Given the description of an element on the screen output the (x, y) to click on. 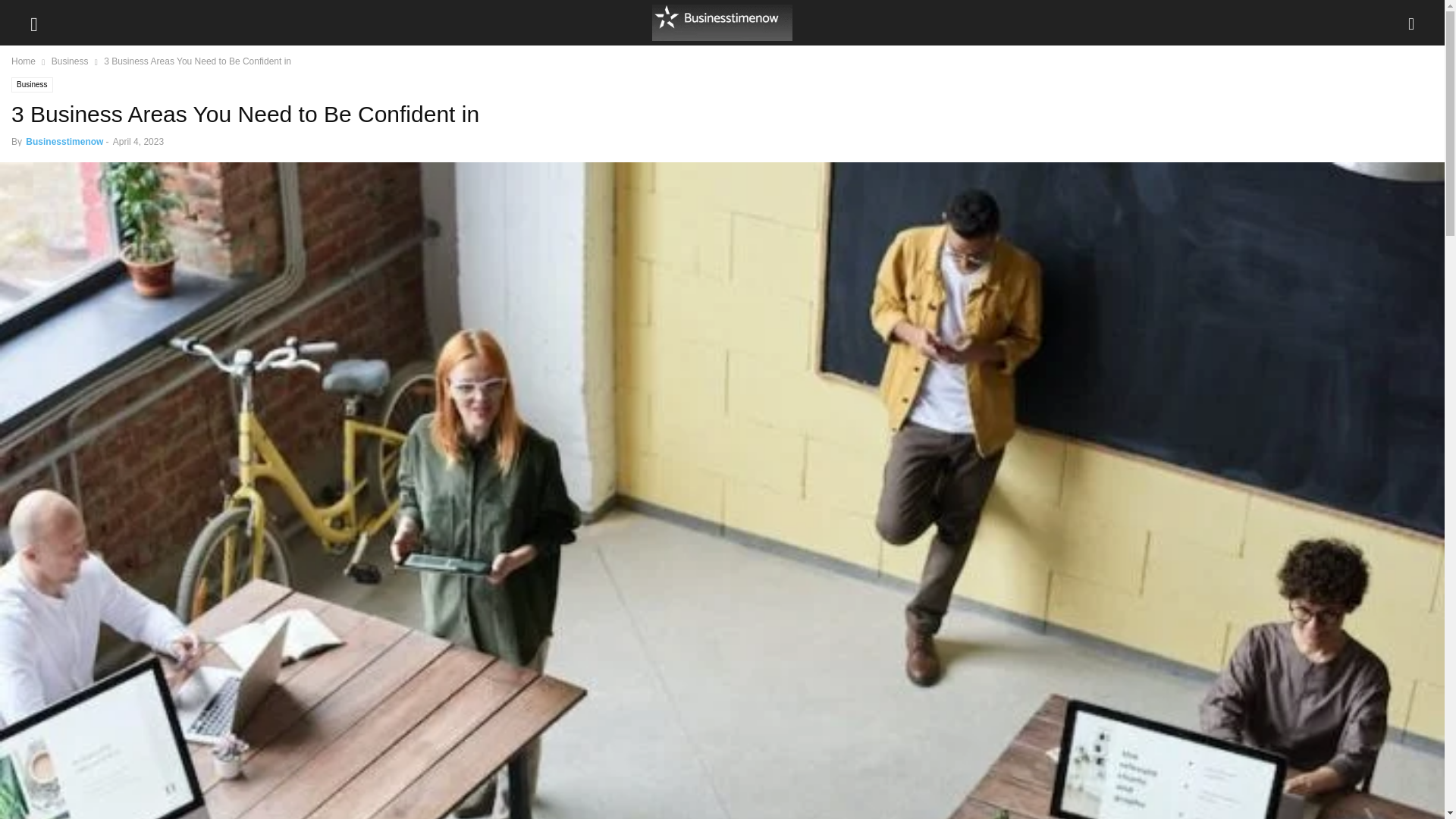
Businesstimenow (64, 141)
Business (31, 84)
Home (22, 61)
BusinessTimenow (722, 22)
View all posts in Business (69, 61)
Business (69, 61)
Search (26, 11)
